Given the description of an element on the screen output the (x, y) to click on. 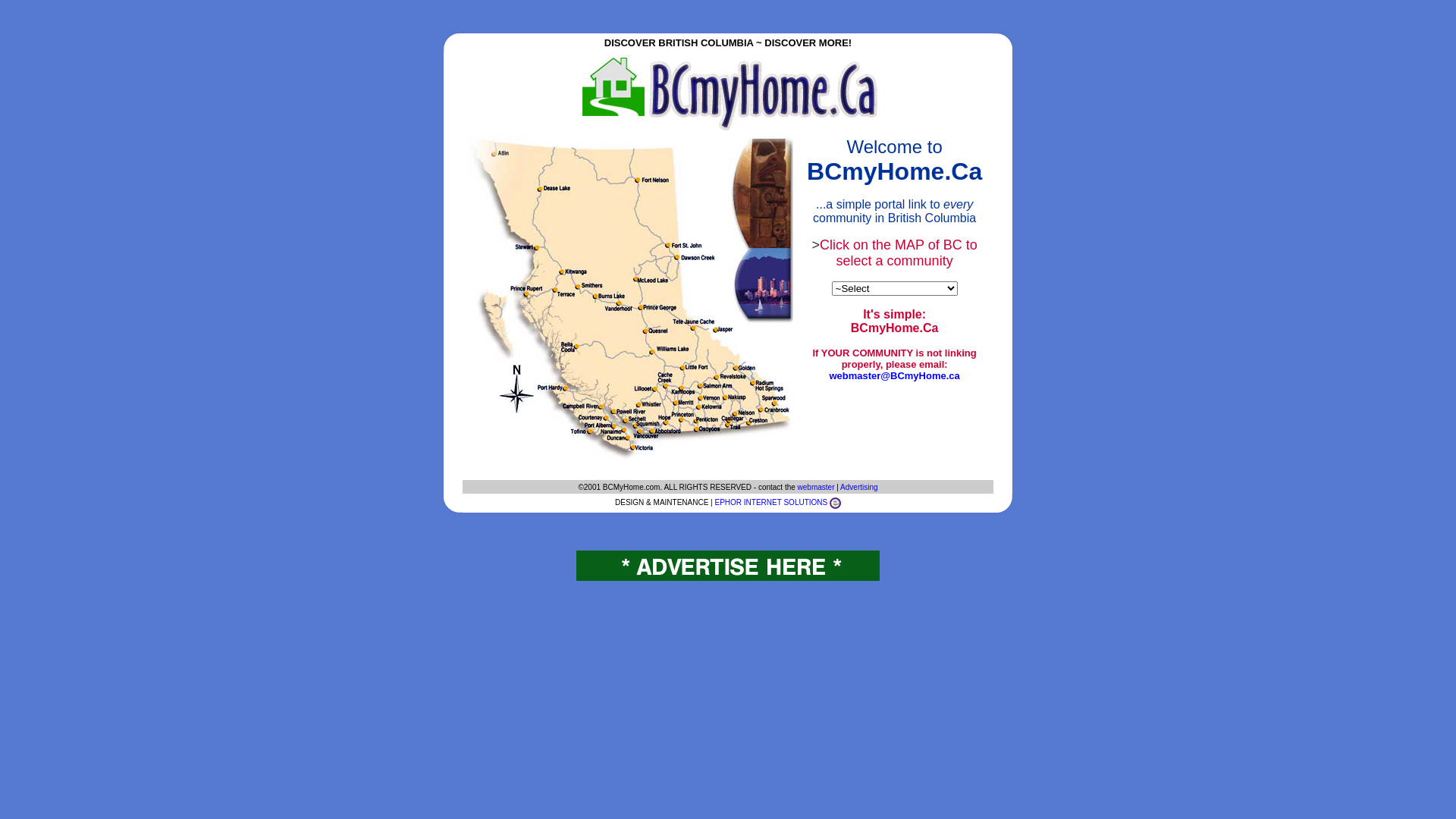
EPHOR INTERNET SOLUTIONS Element type: text (770, 502)
webmaster@BCmyHome.ca Element type: text (893, 375)
Advertising Element type: text (858, 486)
webmaster Element type: text (815, 486)
